Given the description of an element on the screen output the (x, y) to click on. 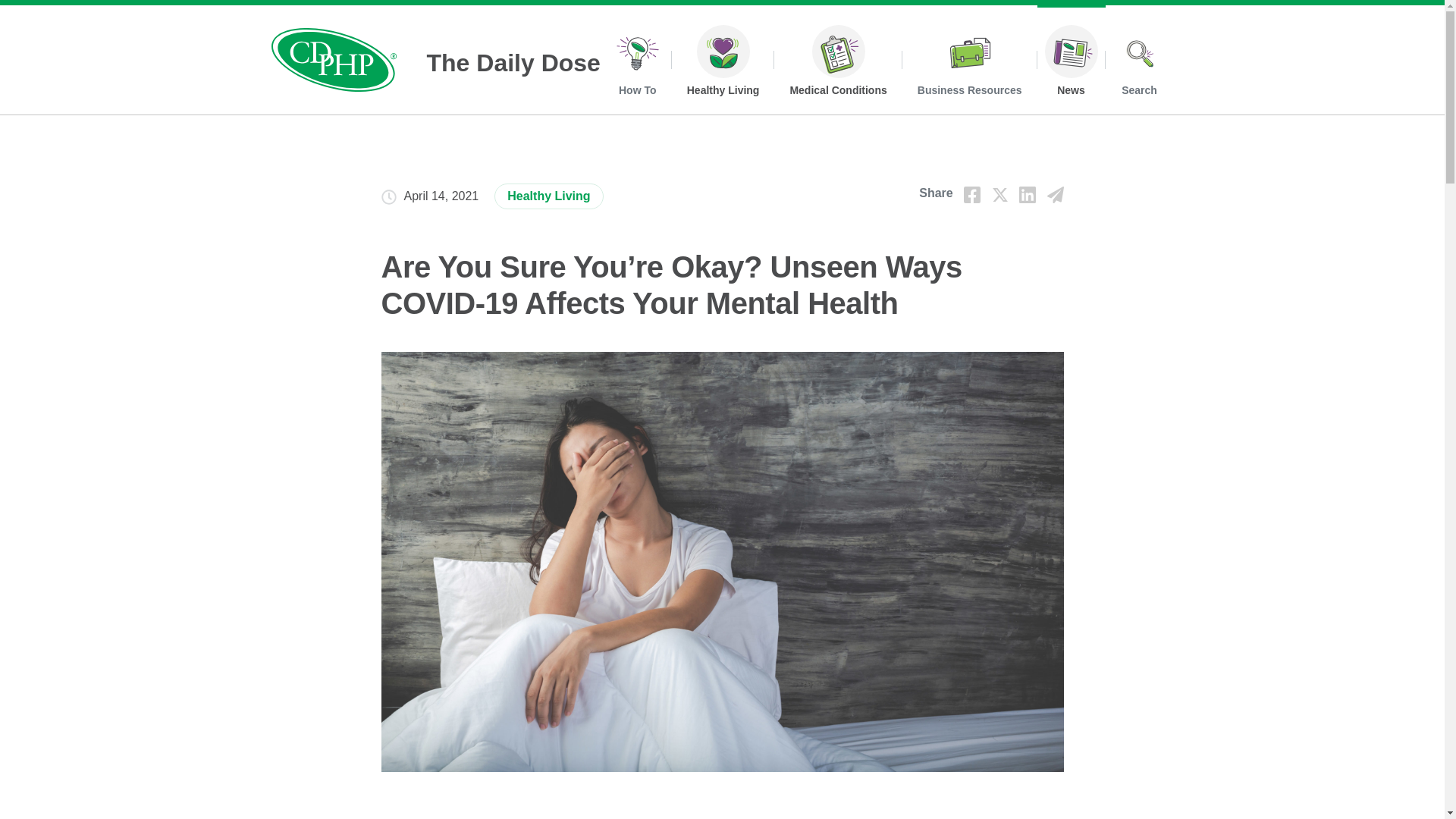
Business Resources (969, 63)
Healthy Living (548, 196)
Medical Conditions (837, 63)
The Daily Dose (434, 59)
Twitter (1000, 194)
Healthy Living (722, 63)
LinkedIn (1027, 194)
E-mail (1054, 194)
Facebook (971, 194)
